Given the description of an element on the screen output the (x, y) to click on. 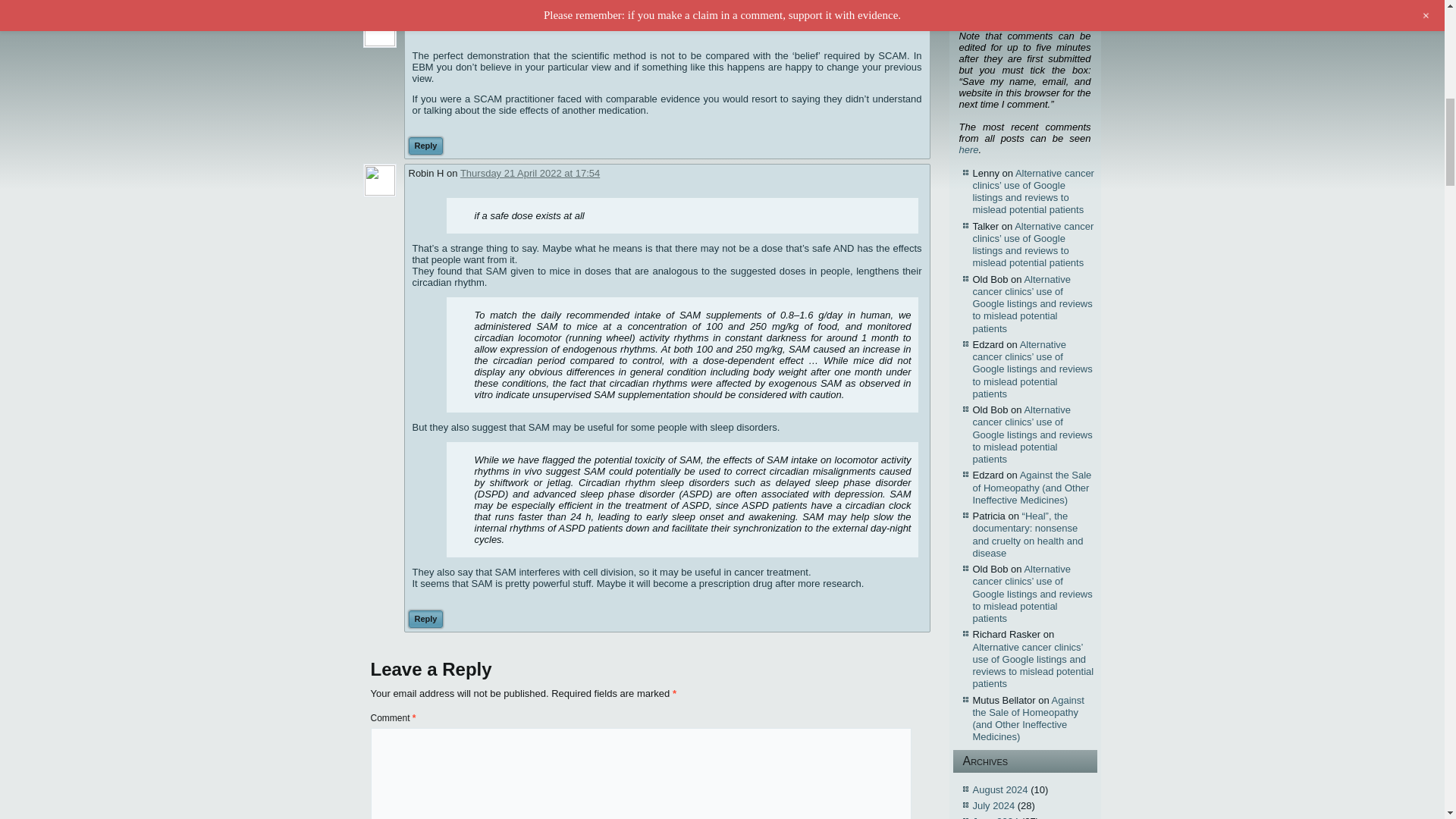
Reply (424, 145)
Tuesday 19 April 2022 at 11:41 (512, 23)
Reply (424, 619)
Thursday 21 April 2022 at 17:54 (529, 173)
